Given the description of an element on the screen output the (x, y) to click on. 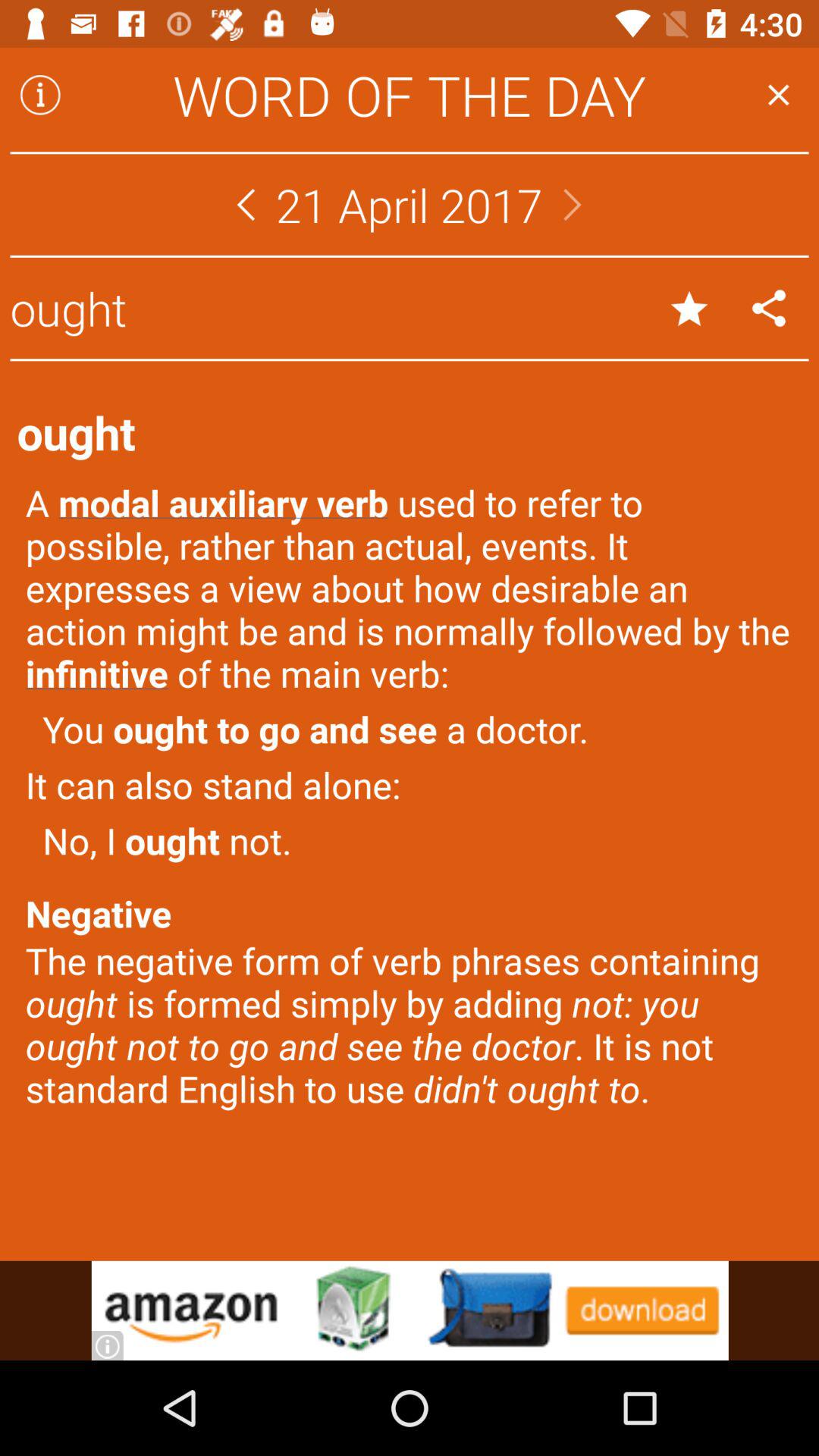
goto next (572, 204)
